Given the description of an element on the screen output the (x, y) to click on. 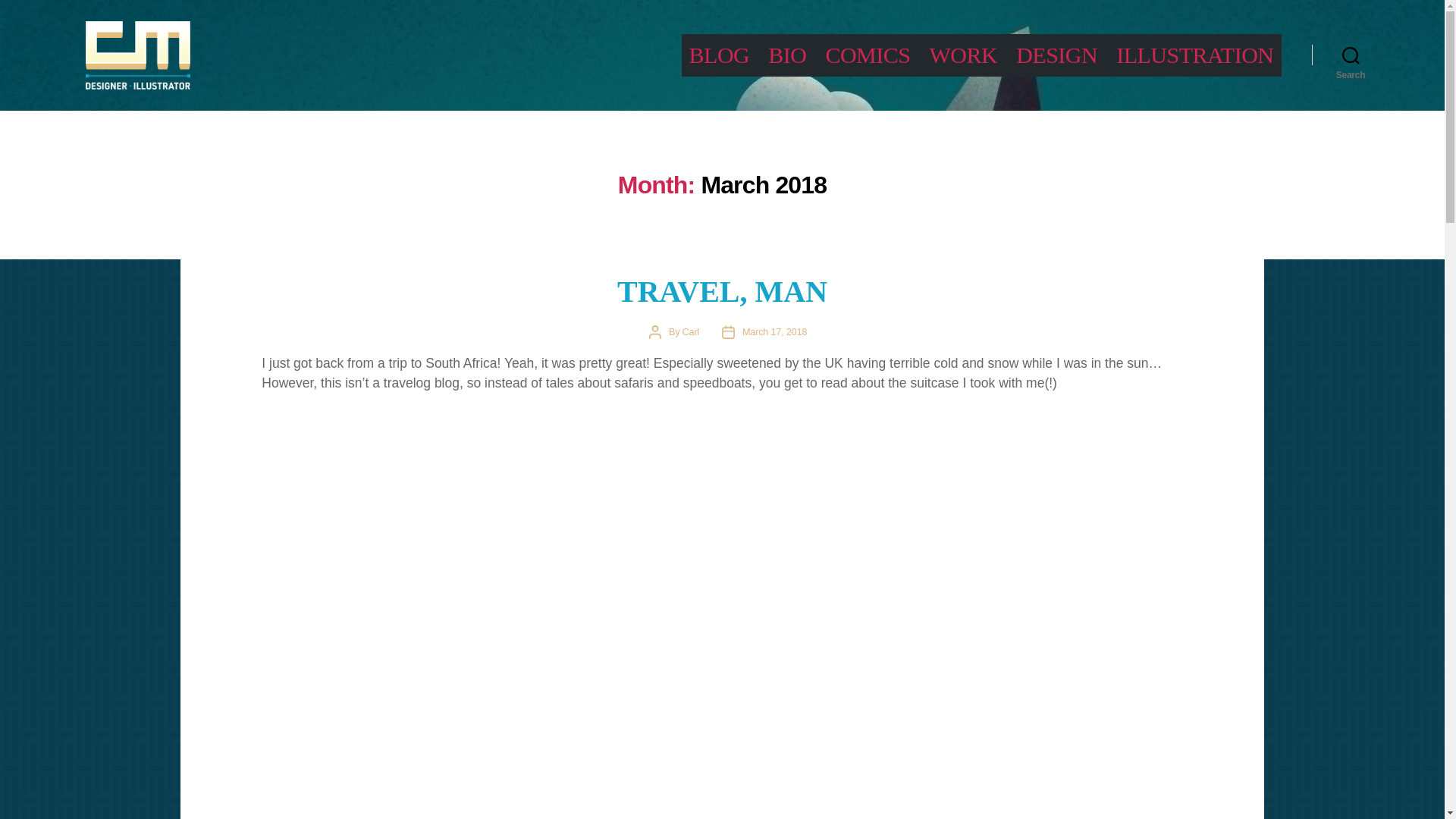
ILLUSTRATION (1194, 54)
BIO (787, 54)
TRAVEL, MAN (722, 291)
WORK (962, 54)
COMICS (867, 54)
DESIGN (1056, 54)
Carl (690, 331)
BLOG (718, 54)
Search (1350, 55)
March 17, 2018 (774, 331)
